Given the description of an element on the screen output the (x, y) to click on. 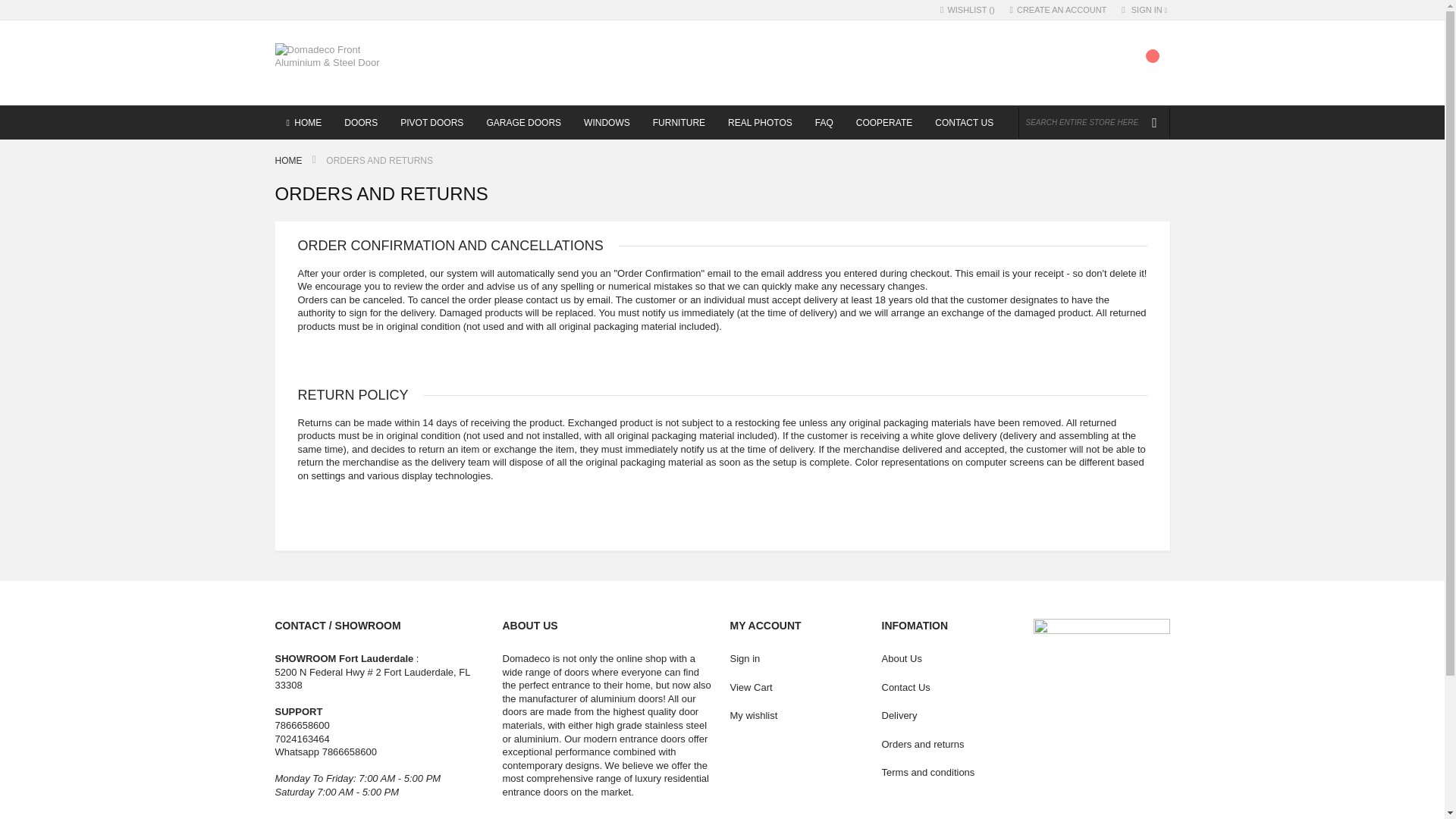
HOME (304, 122)
Go to Home Page (289, 160)
CREATE AN ACCOUNT (1058, 9)
Search (1153, 122)
WISHLIST (967, 9)
DOORS (360, 122)
My Cart (1147, 66)
